Given the description of an element on the screen output the (x, y) to click on. 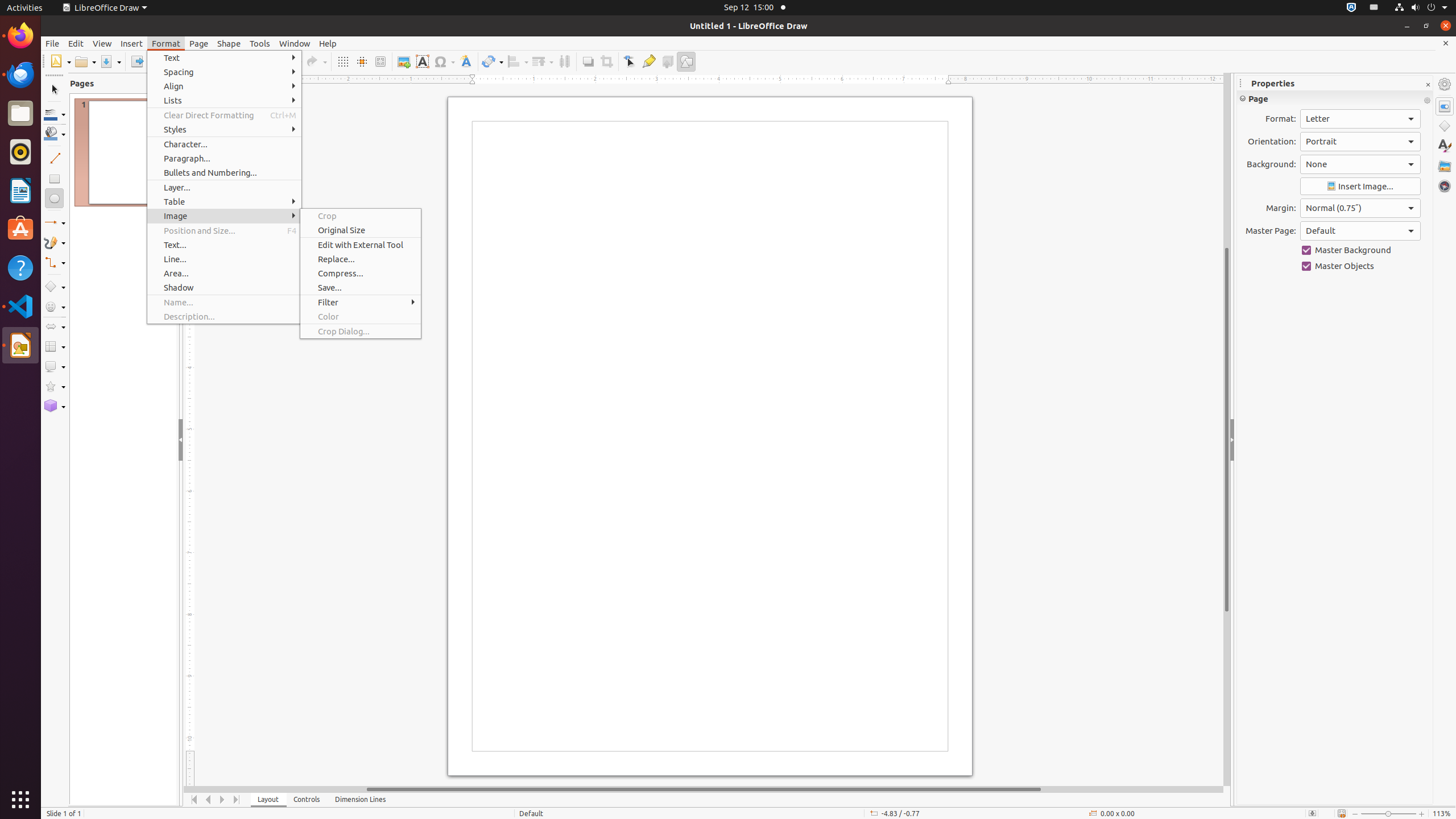
Spacing Element type: menu (224, 71)
Original Size Element type: menu-item (360, 229)
Description... Element type: menu-item (224, 316)
Align Element type: push-button (517, 61)
Shapes Element type: radio-button (1444, 126)
